Given the description of an element on the screen output the (x, y) to click on. 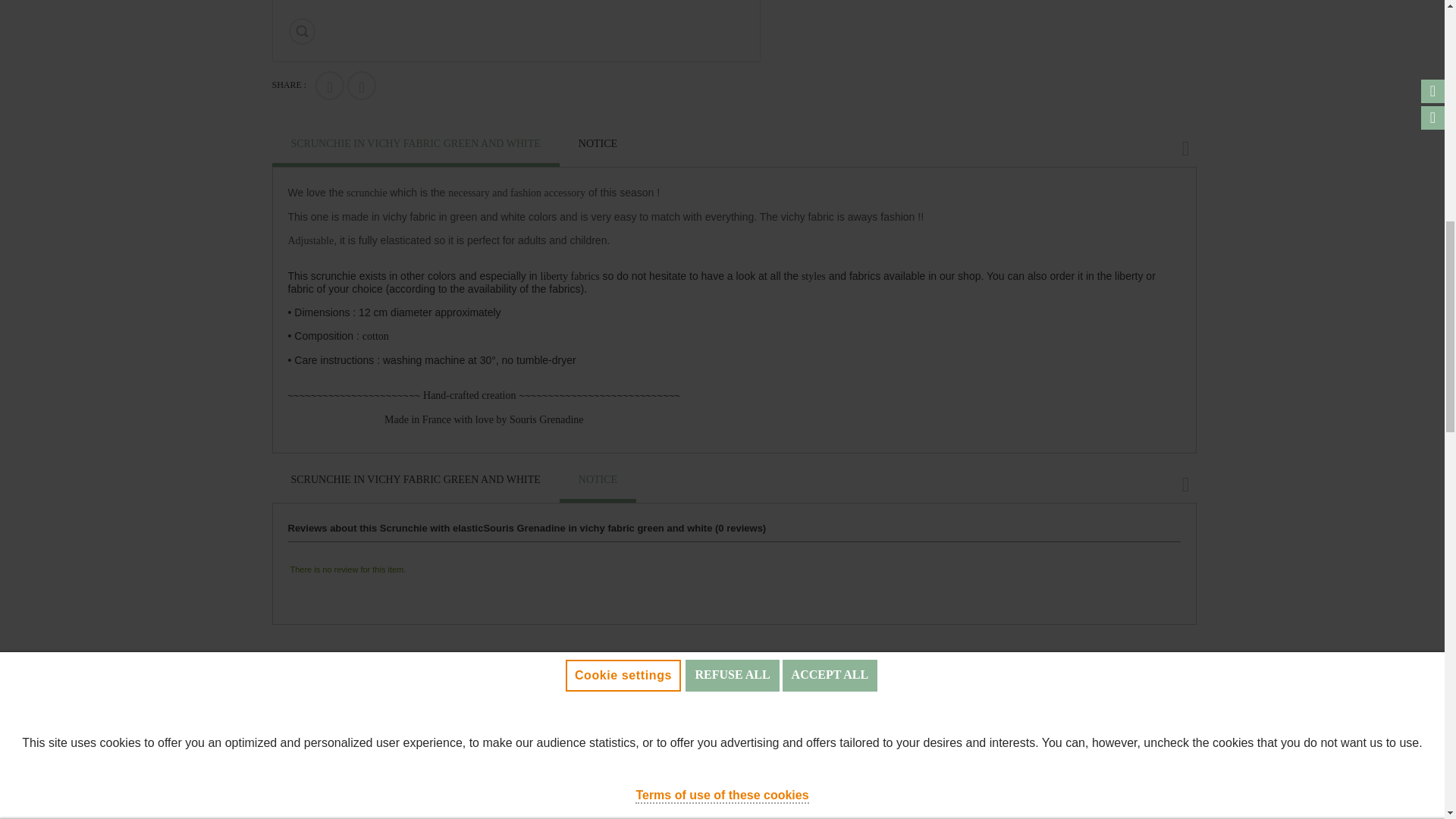
E-mail (361, 85)
on (34, 121)
Facebook - Partager (329, 85)
Elasticated chouchou in printed fabric animal skin (990, 794)
on (34, 180)
See larger image (301, 31)
Scrunchie in Liberty Betsy Berry neon (675, 794)
on (34, 239)
Elasticated scrunchie in Liberty Camo Flower fabric (362, 794)
